Given the description of an element on the screen output the (x, y) to click on. 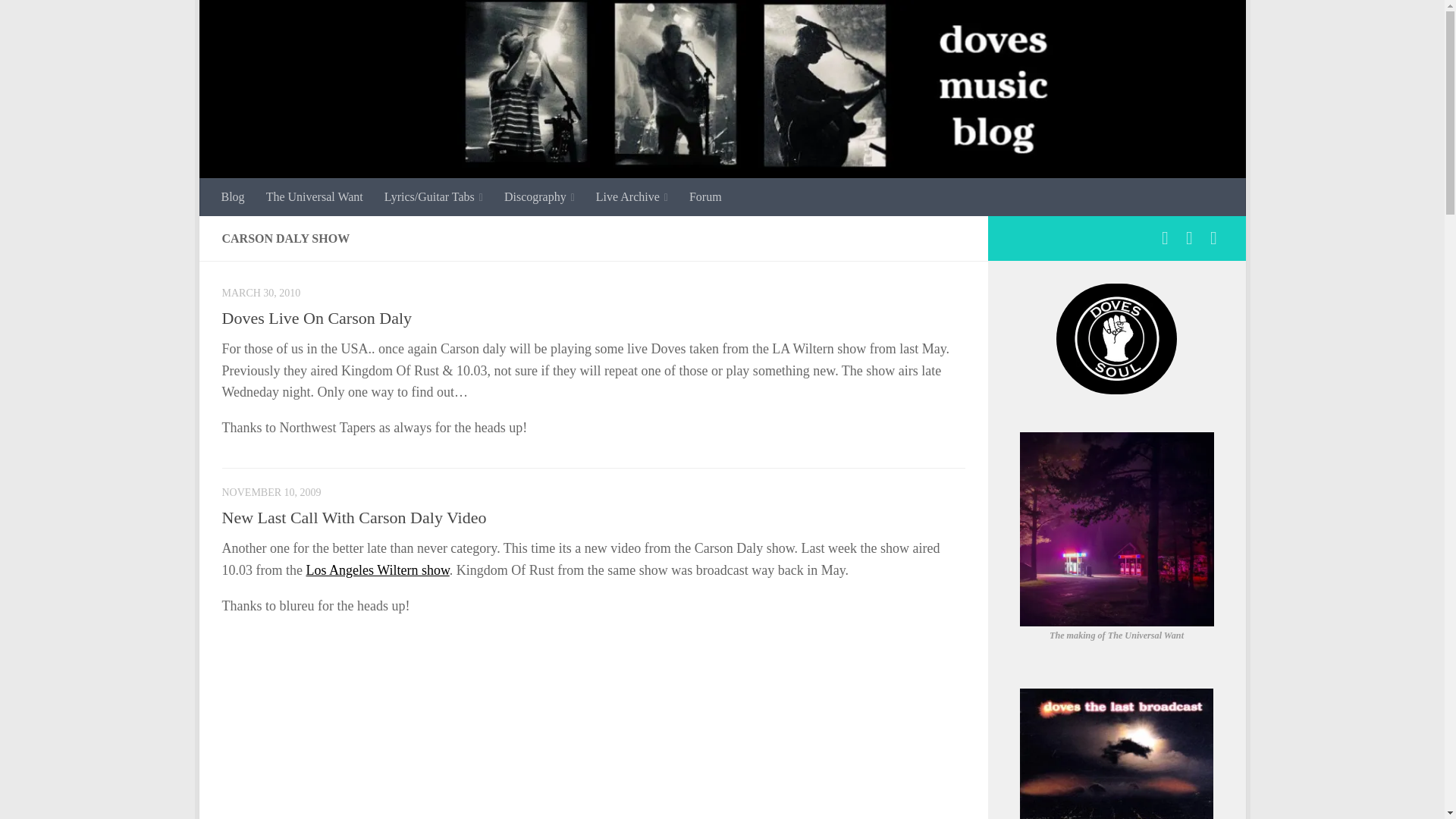
The Universal Want (315, 197)
Skip to content (258, 20)
Blog (233, 197)
Follow us on Instagram (1188, 238)
Follow us on Twitter (1213, 238)
